Given the description of an element on the screen output the (x, y) to click on. 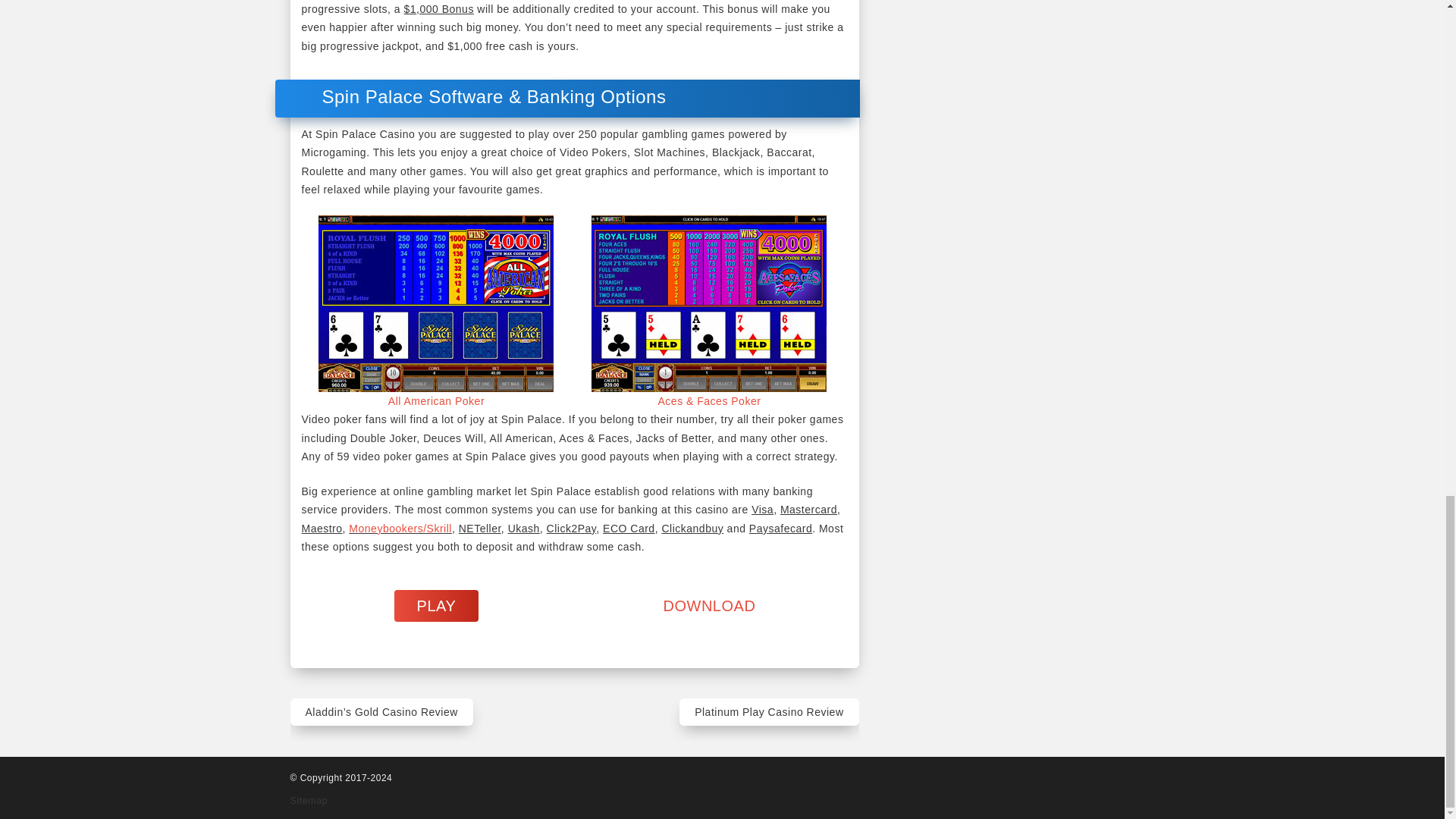
DOWNLOAD (709, 605)
Platinum Play Casino Review (769, 712)
PLAY (436, 605)
All American Poker (436, 400)
